Given the description of an element on the screen output the (x, y) to click on. 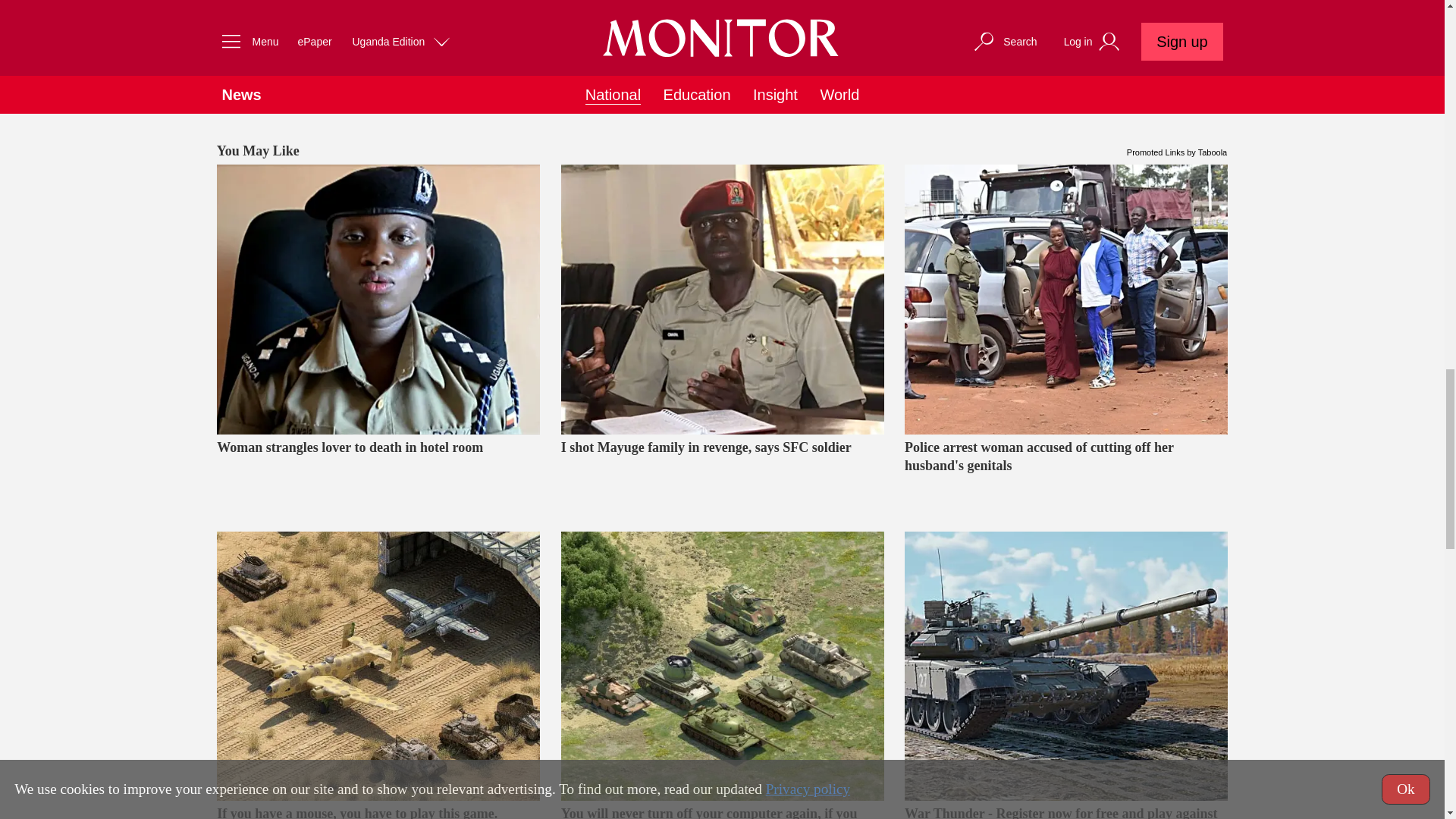
Woman strangles lover to death in hotel room (378, 299)
I shot Mayuge family in revenge, says SFC soldier (721, 474)
Woman strangles lover to death in hotel room (378, 474)
I shot Mayuge family in revenge, says SFC soldier (721, 299)
